Given the description of an element on the screen output the (x, y) to click on. 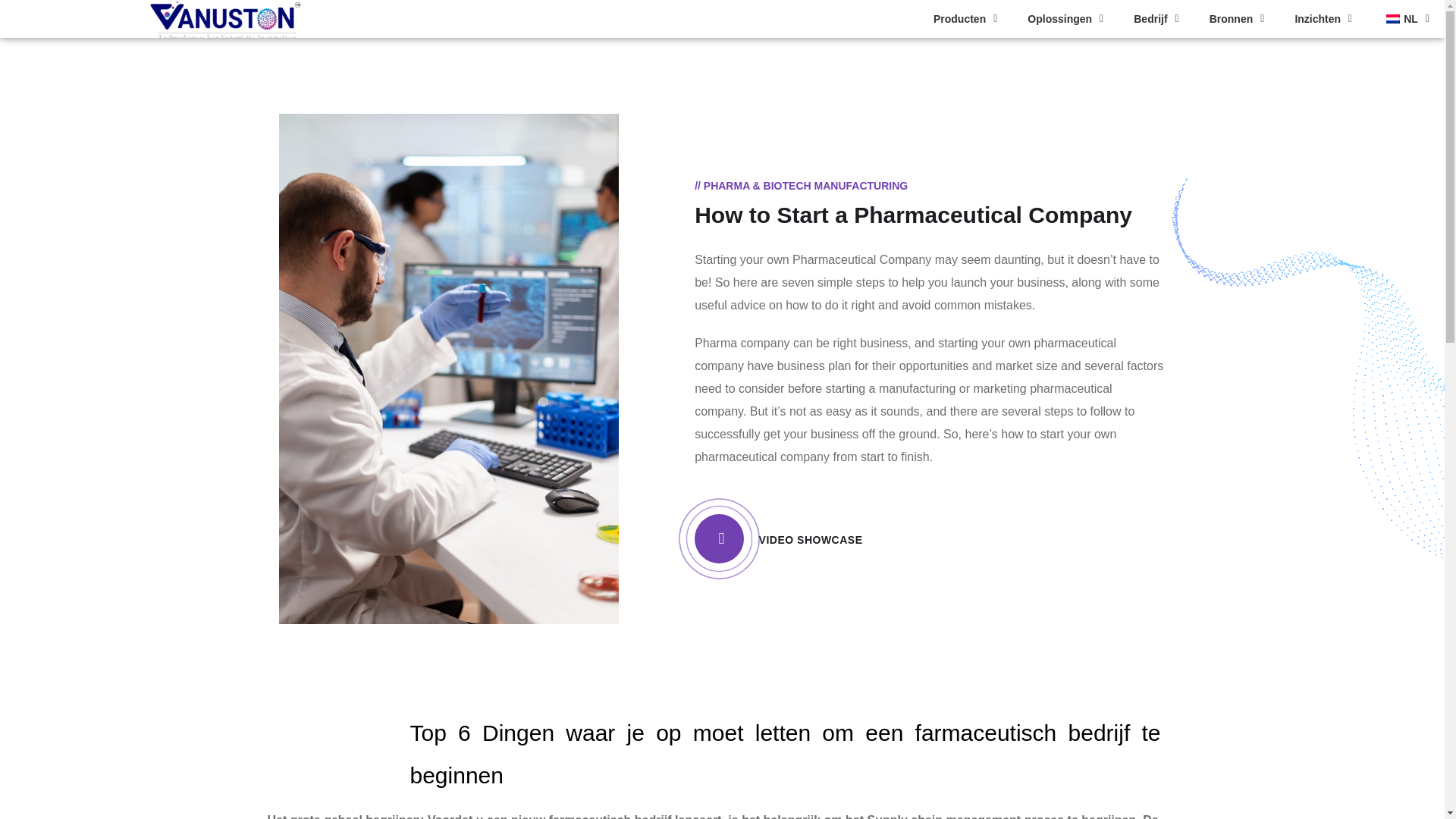
Producten (964, 18)
Dutch (1392, 18)
vanuston-logo (225, 18)
Oplossingen (1064, 18)
Bronnen (1236, 18)
Inzichten (1323, 18)
Bedrijf (1155, 18)
